Given the description of an element on the screen output the (x, y) to click on. 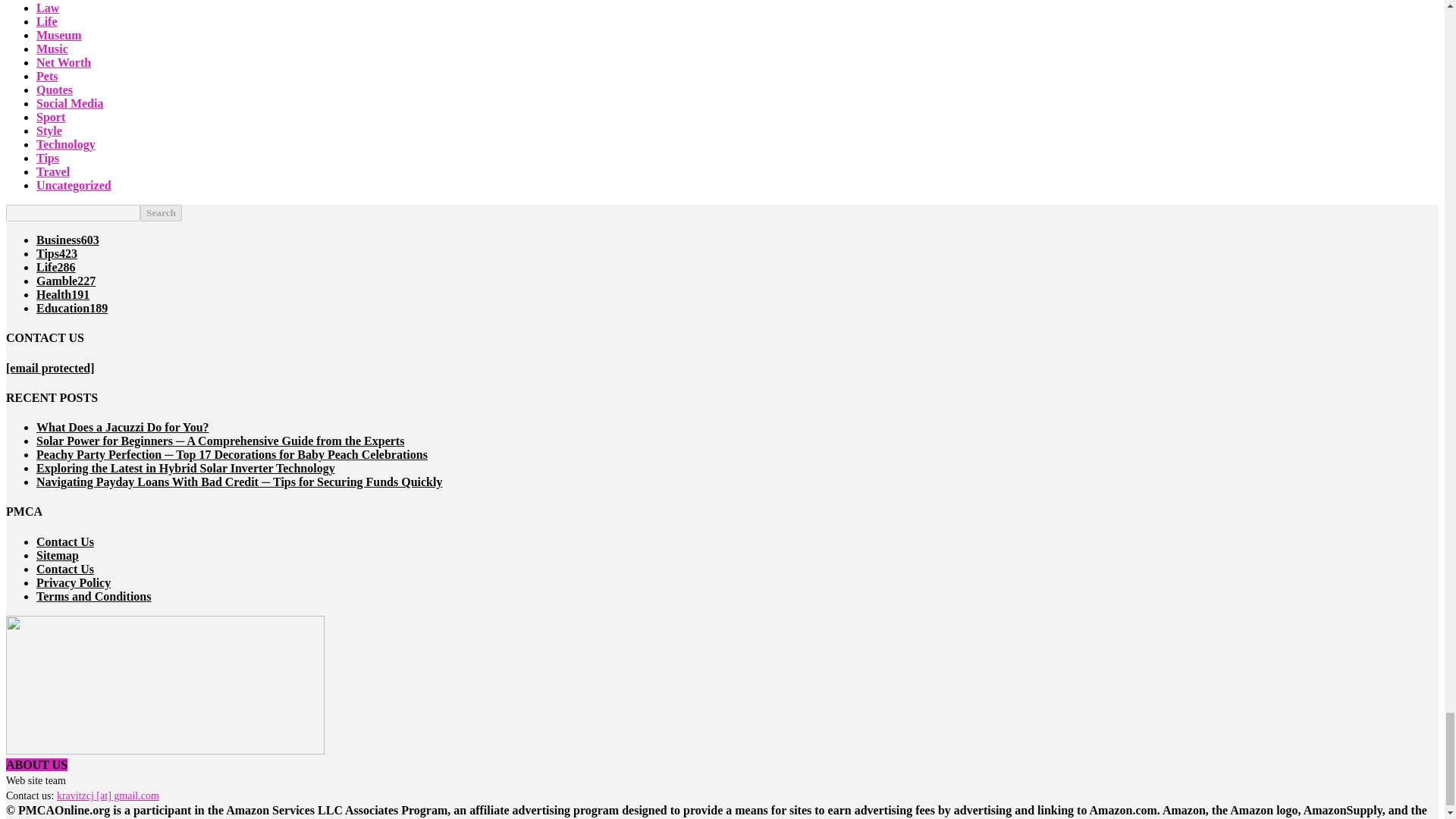
Search (160, 212)
